Given the description of an element on the screen output the (x, y) to click on. 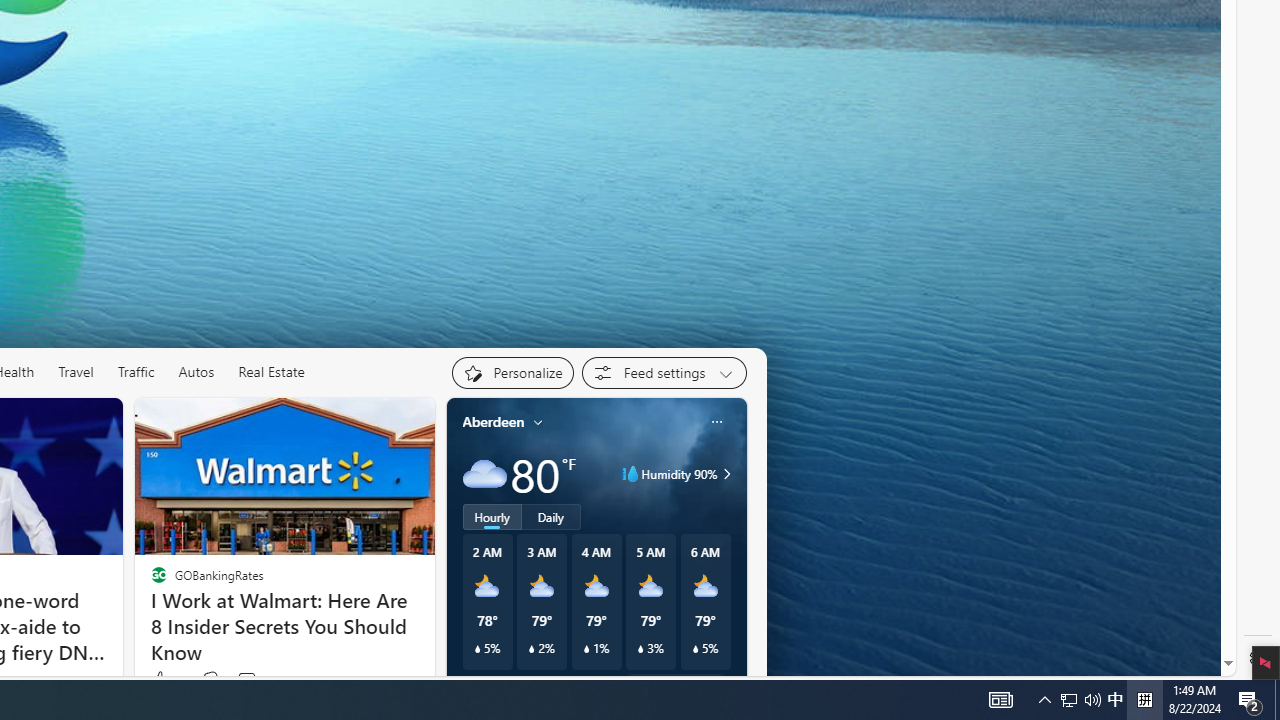
See full forecast (674, 685)
Autos (196, 371)
View comments 161 Comment (258, 680)
Humidity 90% (723, 474)
Class: icon-img (715, 421)
Aberdeen (493, 422)
